Given the description of an element on the screen output the (x, y) to click on. 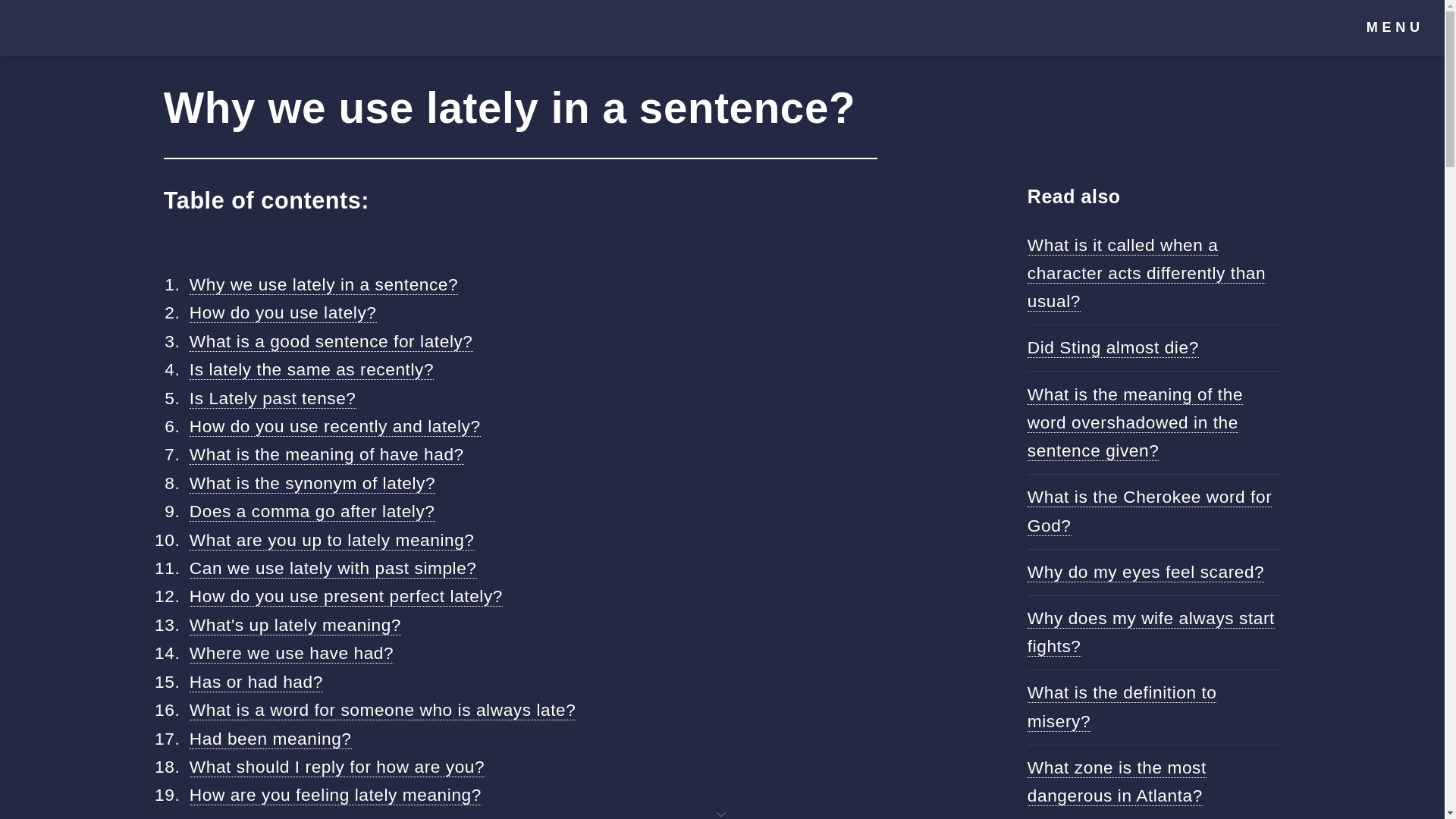
How do you use present perfect lately? (345, 596)
Is lately the same as recently? (311, 369)
How do you use lately? (283, 312)
What is a word for someone who is always late? (382, 710)
How do you use recently and lately? (334, 426)
Had been meaning? (270, 738)
Did Sting almost die? (1112, 347)
What should I reply for how are you? (336, 766)
What's up lately meaning? (295, 625)
What is the Cherokee word for God? (1149, 510)
What zone is the most dangerous in Atlanta? (1117, 781)
Has or had had? (256, 681)
How are you feeling lately meaning? (335, 794)
Can we use lately with past simple? (333, 567)
